Given the description of an element on the screen output the (x, y) to click on. 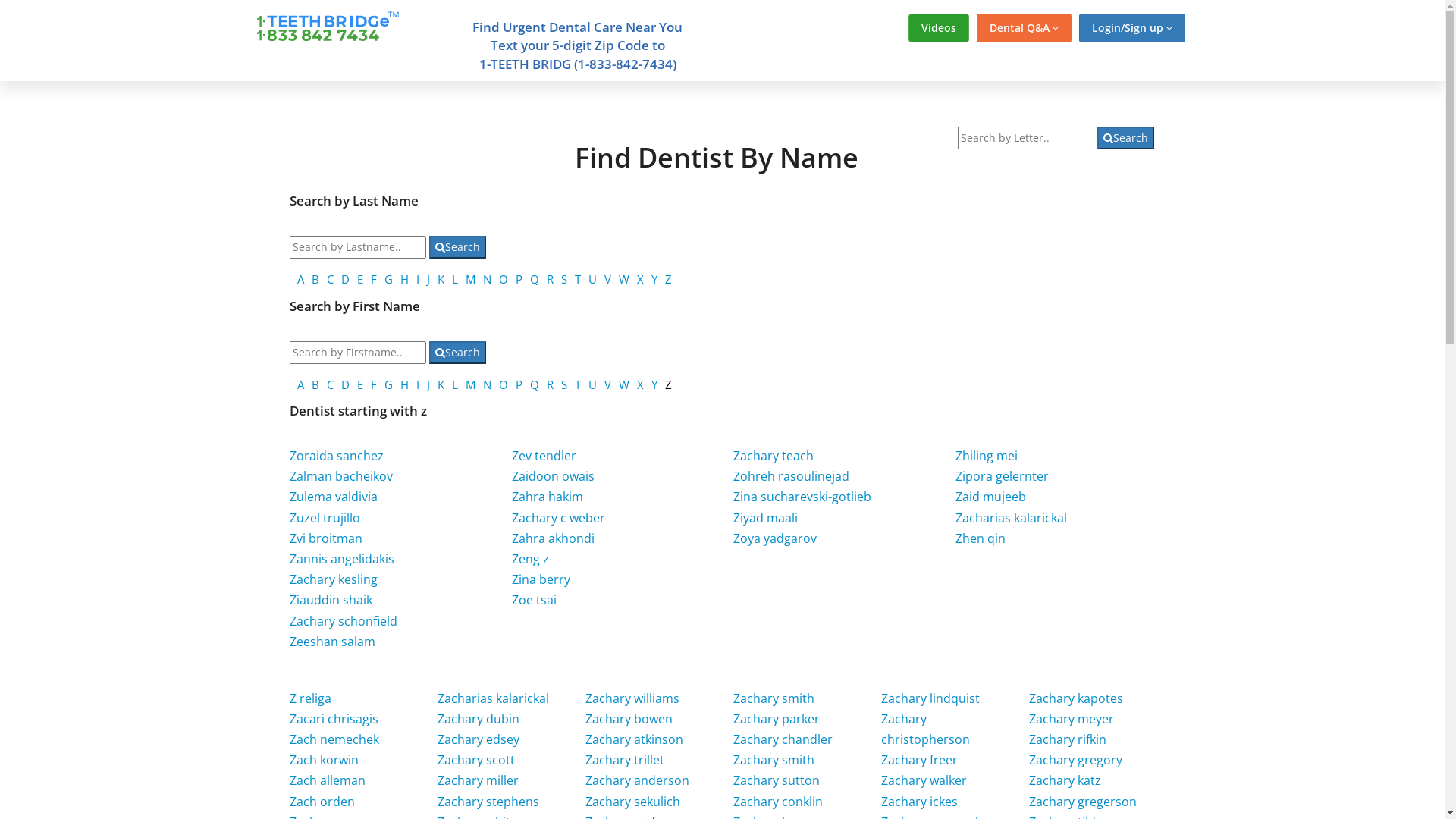
G Element type: text (388, 278)
Zachary c weber Element type: text (558, 517)
Zach alleman Element type: text (327, 779)
Zachary kapotes Element type: text (1076, 698)
S Element type: text (564, 278)
Search Element type: text (1125, 137)
F Element type: text (373, 384)
Zachary meyer Element type: text (1071, 718)
Zachary lindquist Element type: text (930, 698)
Zacharias kalarickal Element type: text (493, 698)
A Element type: text (300, 384)
W Element type: text (623, 384)
M Element type: text (470, 384)
Search Element type: text (457, 352)
E Element type: text (360, 384)
Zachary parker Element type: text (776, 718)
Zachary conklin Element type: text (777, 801)
Zachary ickes Element type: text (919, 801)
Q Element type: text (534, 278)
Zvi broitman Element type: text (325, 538)
Zachary freer Element type: text (919, 759)
Zhiling mei Element type: text (986, 455)
Zachary stephens Element type: text (488, 801)
Zachary schonfield Element type: text (343, 620)
L Element type: text (454, 384)
R Element type: text (549, 384)
Y Element type: text (654, 278)
Zachary gregerson Element type: text (1082, 801)
H Element type: text (404, 278)
K Element type: text (440, 384)
P Element type: text (518, 278)
Zachary williams Element type: text (632, 698)
J Element type: text (427, 384)
L Element type: text (454, 278)
Zeng z Element type: text (530, 558)
Zachary kesling Element type: text (333, 579)
Zachary sutton Element type: text (776, 779)
Zina sucharevski-gotlieb Element type: text (802, 496)
Zachary dubin Element type: text (478, 718)
A Element type: text (300, 278)
B Element type: text (315, 278)
P Element type: text (518, 384)
D Element type: text (345, 384)
Zacharias kalarickal Element type: text (1010, 517)
U Element type: text (592, 384)
F Element type: text (373, 278)
Zina berry Element type: text (540, 579)
Zachary chandler Element type: text (782, 739)
Zachary scott Element type: text (475, 759)
G Element type: text (388, 384)
I Element type: text (417, 278)
H Element type: text (404, 384)
D Element type: text (345, 278)
O Element type: text (503, 278)
C Element type: text (329, 278)
Zachary miller Element type: text (477, 779)
Y Element type: text (654, 384)
X Element type: text (640, 278)
Zachary smith Element type: text (773, 759)
Search Element type: text (457, 246)
J Element type: text (427, 278)
Zach korwin Element type: text (323, 759)
Zaid mujeeb Element type: text (990, 496)
I Element type: text (417, 384)
O Element type: text (503, 384)
Zoya yadgarov Element type: text (774, 538)
M Element type: text (470, 278)
Zachary sekulich Element type: text (632, 801)
K Element type: text (440, 278)
B Element type: text (315, 384)
Zohreh rasoulinejad Element type: text (791, 475)
Z religa Element type: text (310, 698)
Zachary trillet Element type: text (624, 759)
X Element type: text (640, 384)
Zach nemechek Element type: text (334, 739)
Zachary teach Element type: text (773, 455)
S Element type: text (564, 384)
Zachary bowen Element type: text (628, 718)
Ziauddin shaik Element type: text (330, 599)
Z Element type: text (668, 278)
Zeeshan salam Element type: text (332, 641)
Zachary katz Element type: text (1065, 779)
Zipora gelernter Element type: text (1001, 475)
Zachary atkinson Element type: text (634, 739)
Zachary rifkin Element type: text (1067, 739)
Zachary christopherson Element type: text (925, 728)
Zoe tsai Element type: text (533, 599)
T Element type: text (577, 384)
Zacari chrisagis Element type: text (333, 718)
Zannis angelidakis Element type: text (341, 558)
Zaidoon owais Element type: text (552, 475)
Zuzel trujillo Element type: text (324, 517)
U Element type: text (592, 278)
Zulema valdivia Element type: text (333, 496)
N Element type: text (487, 278)
Q Element type: text (534, 384)
Zhen qin Element type: text (980, 538)
Zahra hakim Element type: text (547, 496)
Zachary anderson Element type: text (637, 779)
E Element type: text (360, 278)
V Element type: text (607, 278)
Zachary smith Element type: text (773, 698)
C Element type: text (329, 384)
Zoraida sanchez Element type: text (336, 455)
Zachary edsey Element type: text (478, 739)
Zachary gregory Element type: text (1075, 759)
Zach orden Element type: text (321, 801)
Ziyad maali Element type: text (765, 517)
Zachary walker Element type: text (923, 779)
Videos Element type: text (938, 27)
N Element type: text (487, 384)
Zahra akhondi Element type: text (552, 538)
W Element type: text (623, 278)
R Element type: text (549, 278)
Dental Q&A Element type: text (1023, 27)
Zev tendler Element type: text (543, 455)
Zalman bacheikov Element type: text (340, 475)
V Element type: text (607, 384)
Login/Sign up Element type: text (1131, 27)
T Element type: text (577, 278)
